Given the description of an element on the screen output the (x, y) to click on. 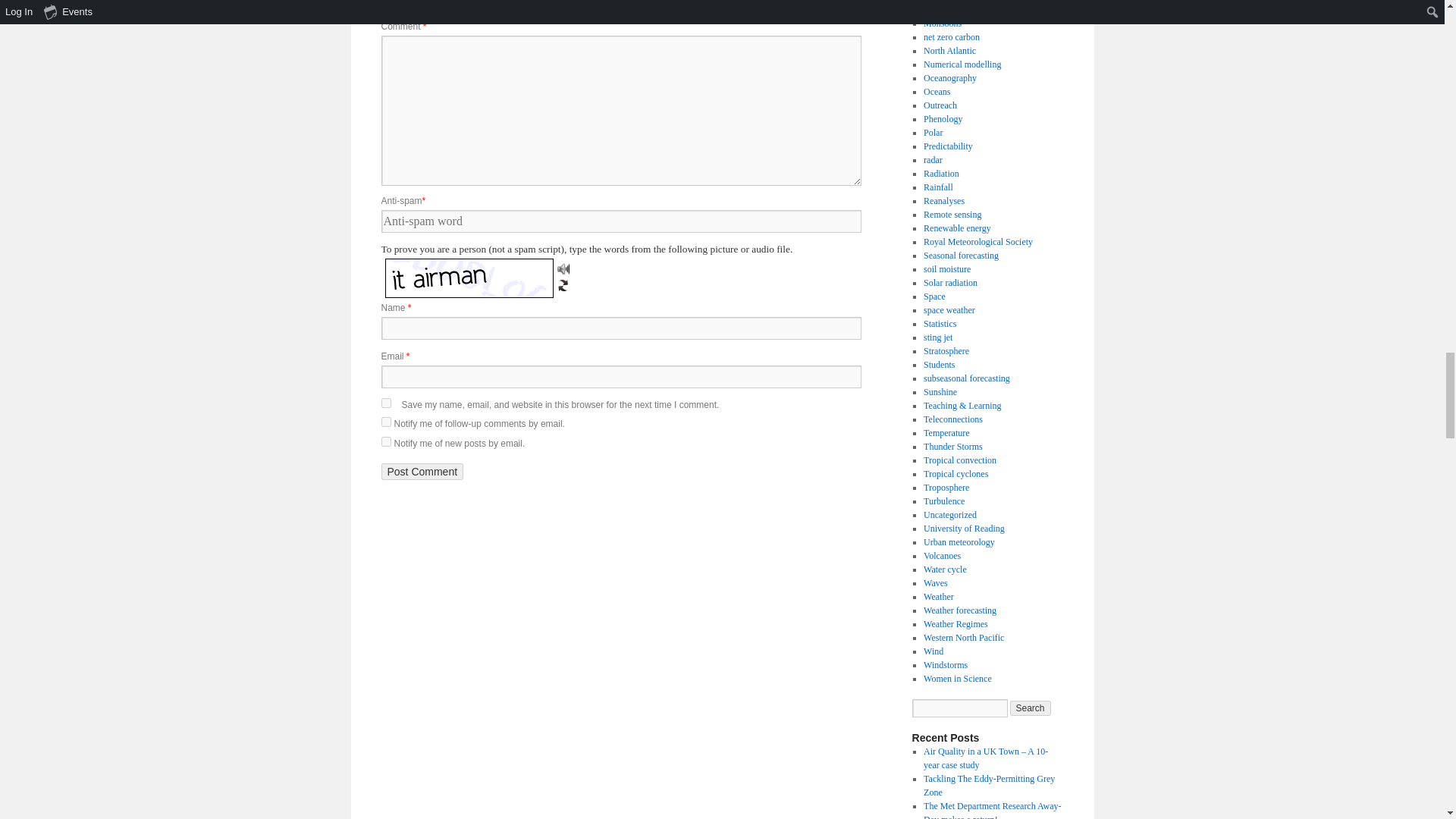
subscribe (385, 421)
Search (1030, 708)
subscribe (385, 441)
Load new (562, 284)
Post Comment (421, 471)
Listen (562, 268)
Post Comment (421, 471)
yes (385, 402)
